Given the description of an element on the screen output the (x, y) to click on. 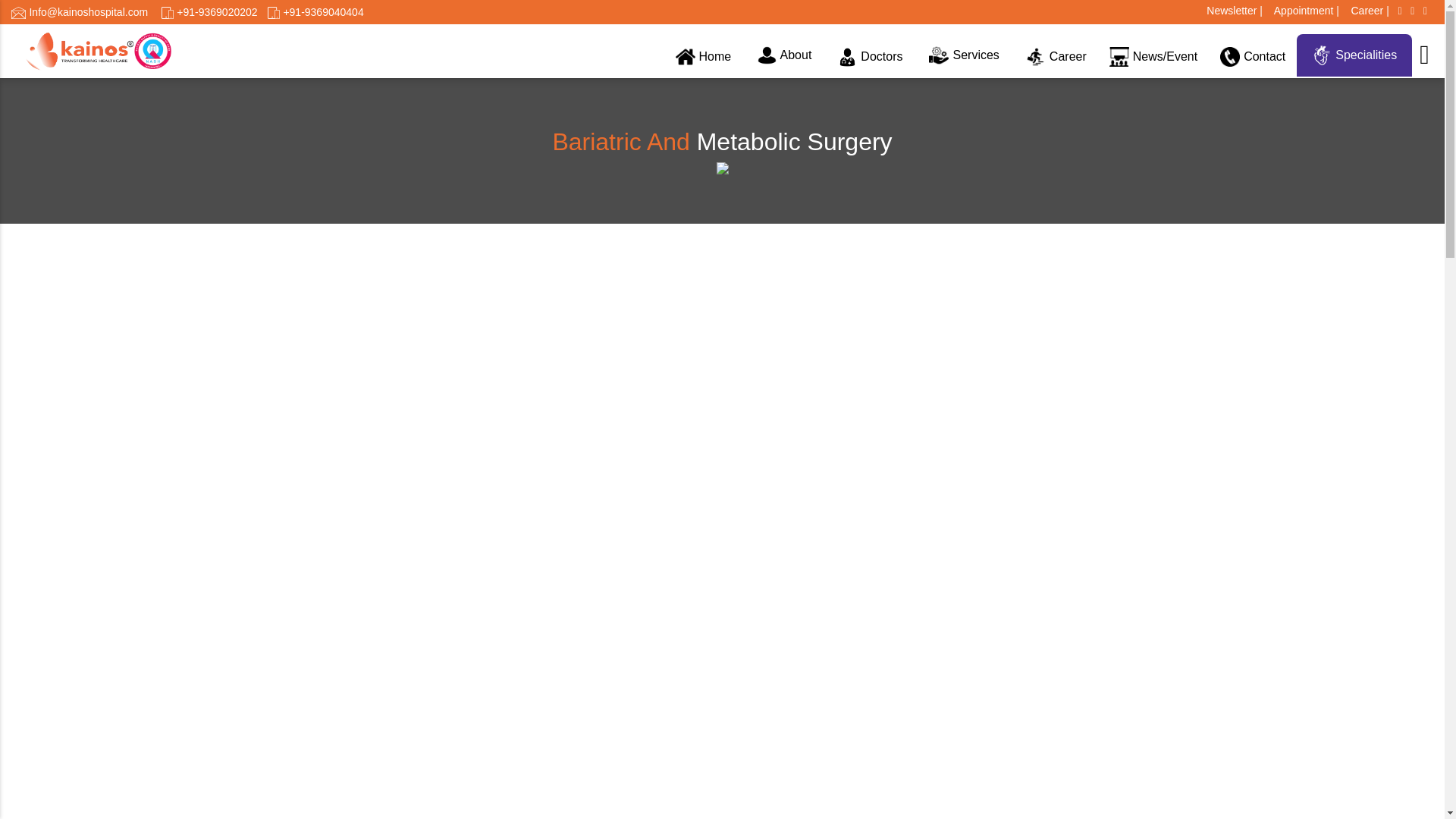
Career (1367, 10)
Appointment (1303, 10)
Contact (1252, 56)
Newsletter (1233, 10)
Doctors (870, 56)
Home (702, 56)
Career (1055, 56)
